Given the description of an element on the screen output the (x, y) to click on. 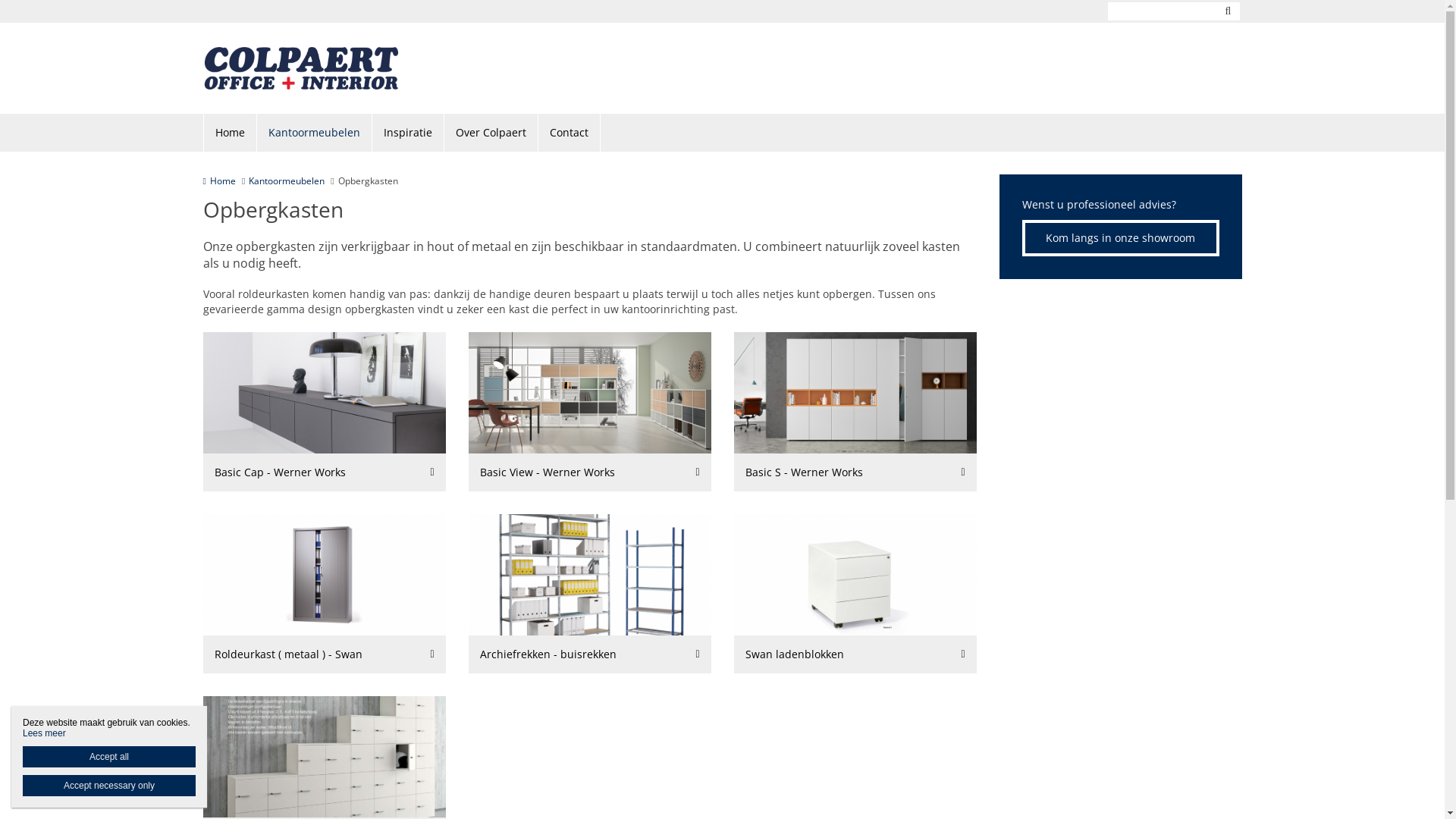
Basic S - Werner Works Element type: text (855, 472)
Archiefrekken - buisrekken Element type: text (589, 654)
Contact Element type: text (569, 132)
Accept all Element type: text (108, 756)
Zoeken Element type: text (1227, 11)
Basic S - Werner Works Element type: text (855, 411)
Home Element type: text (219, 180)
Kantoormeubelen Element type: text (313, 132)
Inspiratie Element type: text (407, 132)
Basic View - Werner Works Element type: text (589, 472)
Basic View - Werner Works Element type: text (589, 411)
Accept necessary only Element type: text (108, 785)
Over Colpaert Element type: text (491, 132)
Home Element type: text (229, 132)
Roldeurkast ( metaal ) - Swan Element type: text (324, 593)
Roldeurkast ( metaal ) - Swan Element type: text (324, 654)
Basic Cap - Werner Works Element type: text (324, 411)
Basic Cap - Werner Works Element type: text (324, 472)
Overslaan en naar de inhoud gaan Element type: text (81, 0)
Kantoormeubelen Element type: text (286, 180)
Lees meer Element type: text (43, 733)
Swan ladenblokken Element type: text (855, 654)
Archiefrekken - buisrekken Element type: text (589, 593)
Home | Colpaert Element type: hover (324, 68)
Swan ladenblokken Element type: text (855, 593)
Kom langs in onze showroom Element type: text (1120, 237)
Home | Colpaert Element type: hover (301, 68)
